Given the description of an element on the screen output the (x, y) to click on. 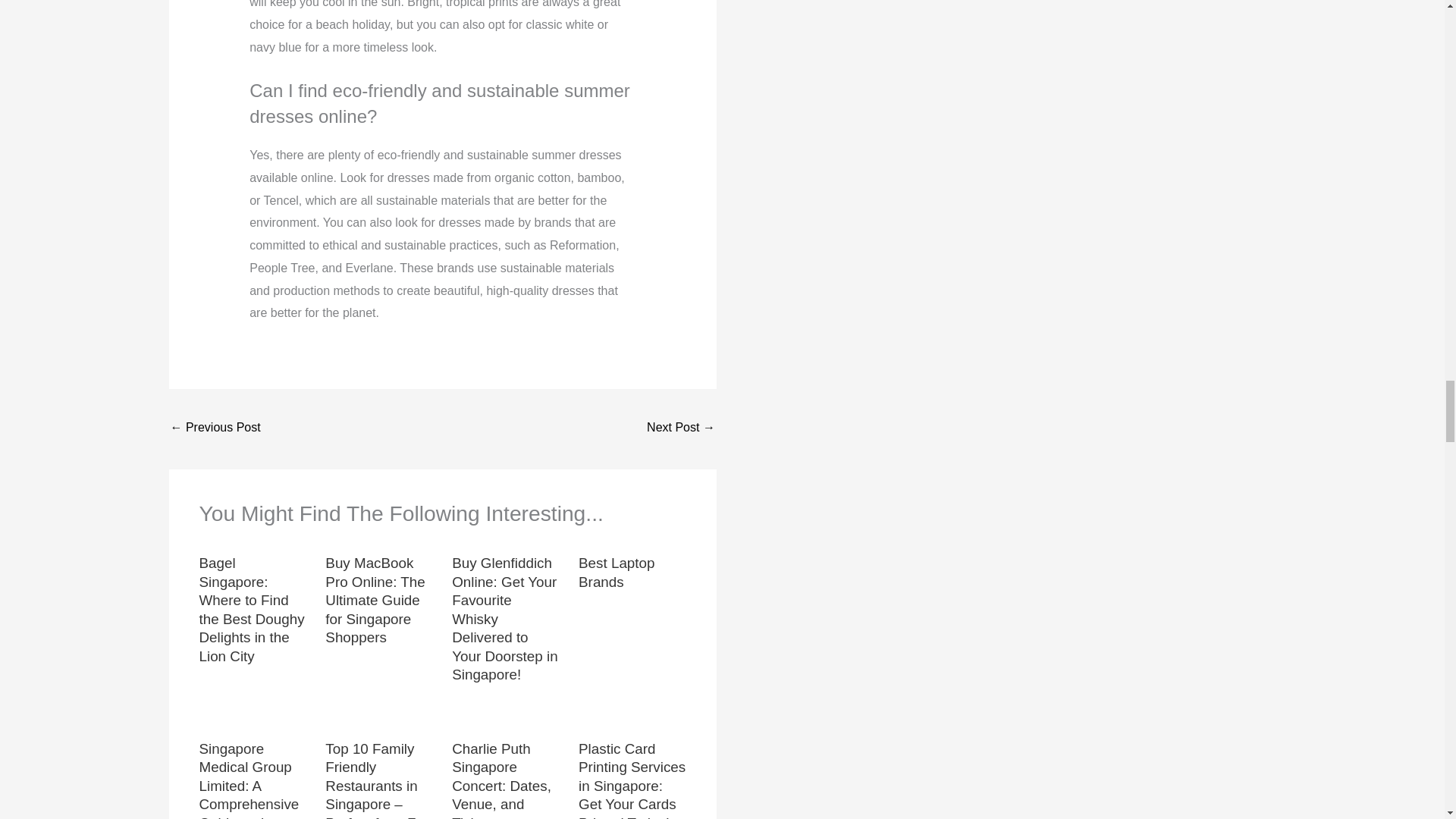
Where to Buy Olivia Burton Watches in Singapore (680, 428)
